Given the description of an element on the screen output the (x, y) to click on. 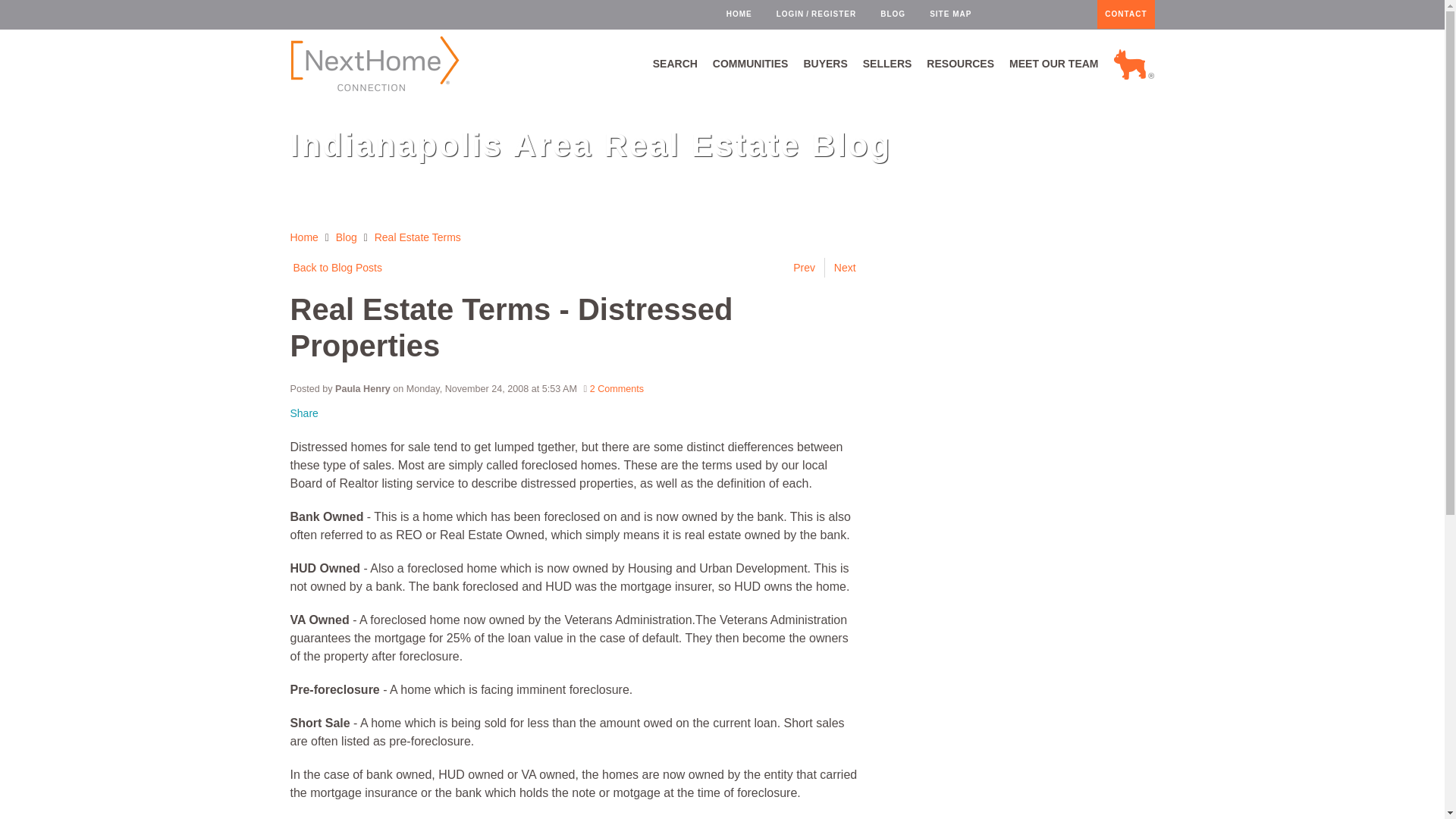
Blog (346, 236)
Real Estate Terms (417, 236)
REGISTER (833, 13)
SITE MAP (950, 13)
2 Comments (616, 388)
COMMUNITIES (750, 64)
Home (303, 236)
Prev (807, 267)
Share (303, 413)
HOME (739, 13)
Back to Blog Posts (335, 268)
RESOURCES (959, 64)
BUYERS (824, 64)
CONTACT (1125, 14)
SEARCH (674, 64)
